Given the description of an element on the screen output the (x, y) to click on. 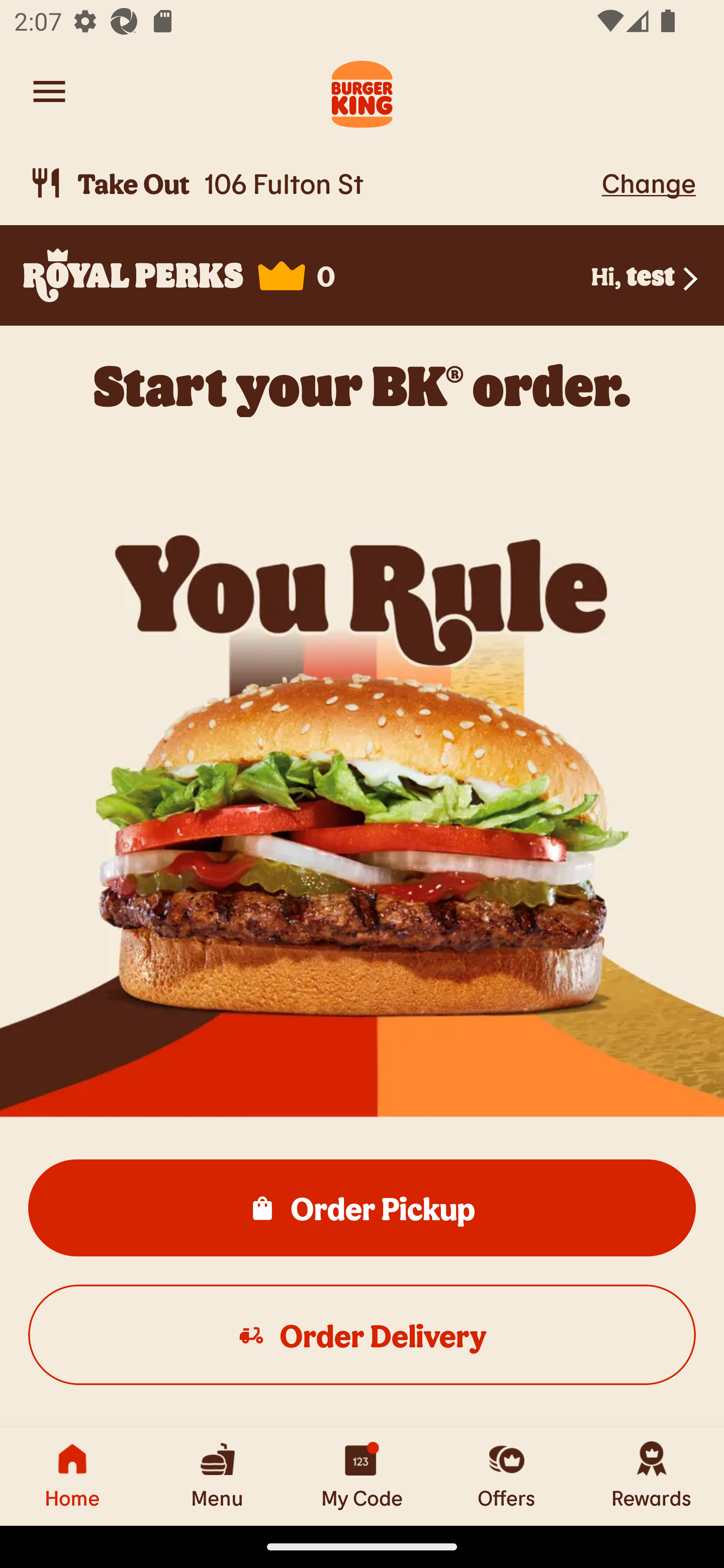
Burger King Logo. Navigate to Home (362, 91)
Navigate to account menu  (49, 91)
Take Out, 106 Fulton St  Take Out 106 Fulton St (311, 183)
Change (648, 182)
Start your BK® order. (361, 385)
, Order Pickup  Order Pickup (361, 1206)
, Order Delivery  Order Delivery (361, 1334)
Home (72, 1475)
Menu (216, 1475)
My Code (361, 1475)
Offers (506, 1475)
Rewards (651, 1475)
